Given the description of an element on the screen output the (x, y) to click on. 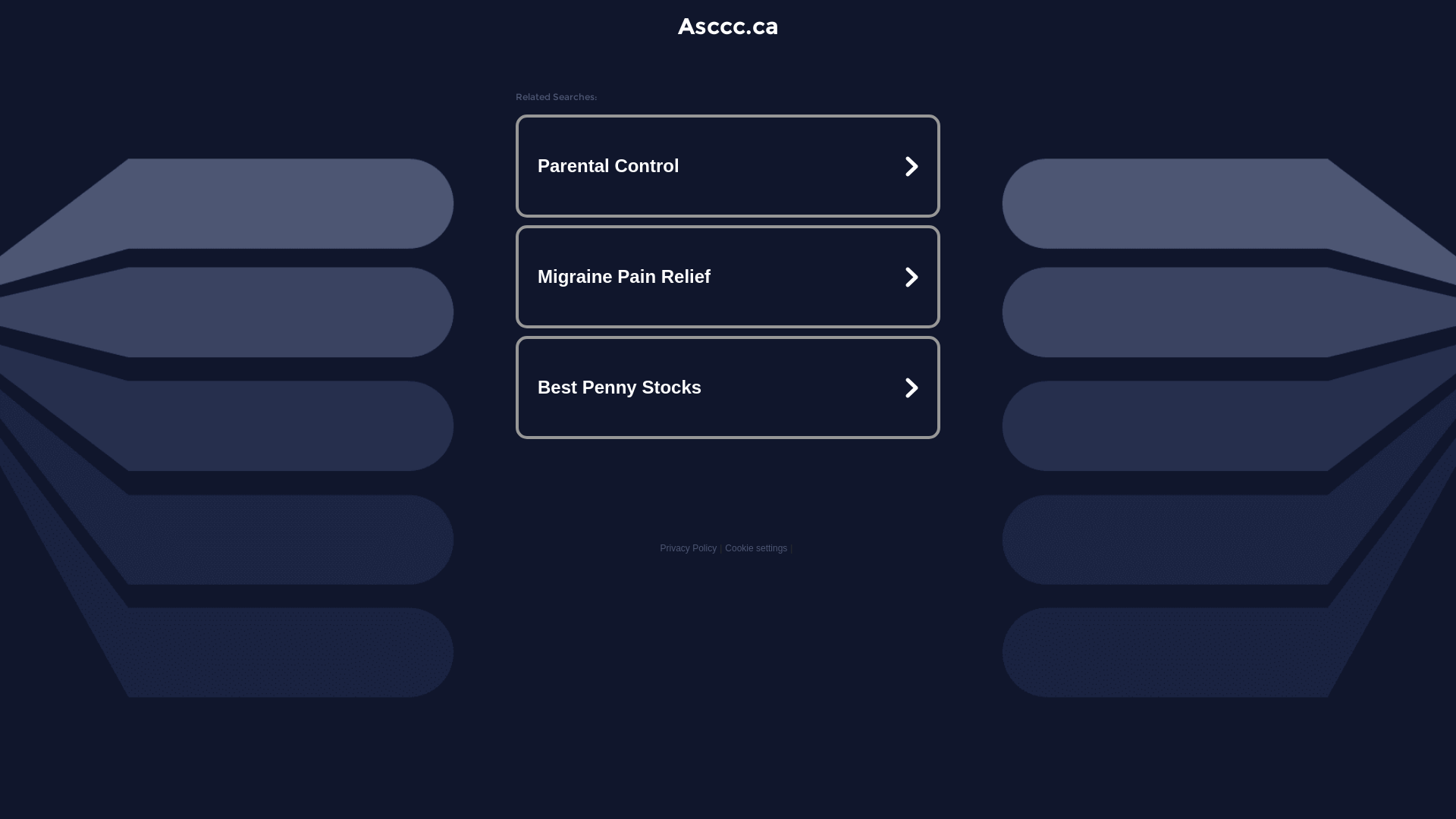
Parental Control Element type: text (727, 165)
Cookie settings Element type: text (755, 547)
Asccc.ca Element type: text (727, 26)
Privacy Policy Element type: text (687, 547)
Migraine Pain Relief Element type: text (727, 276)
Best Penny Stocks Element type: text (727, 387)
